Given the description of an element on the screen output the (x, y) to click on. 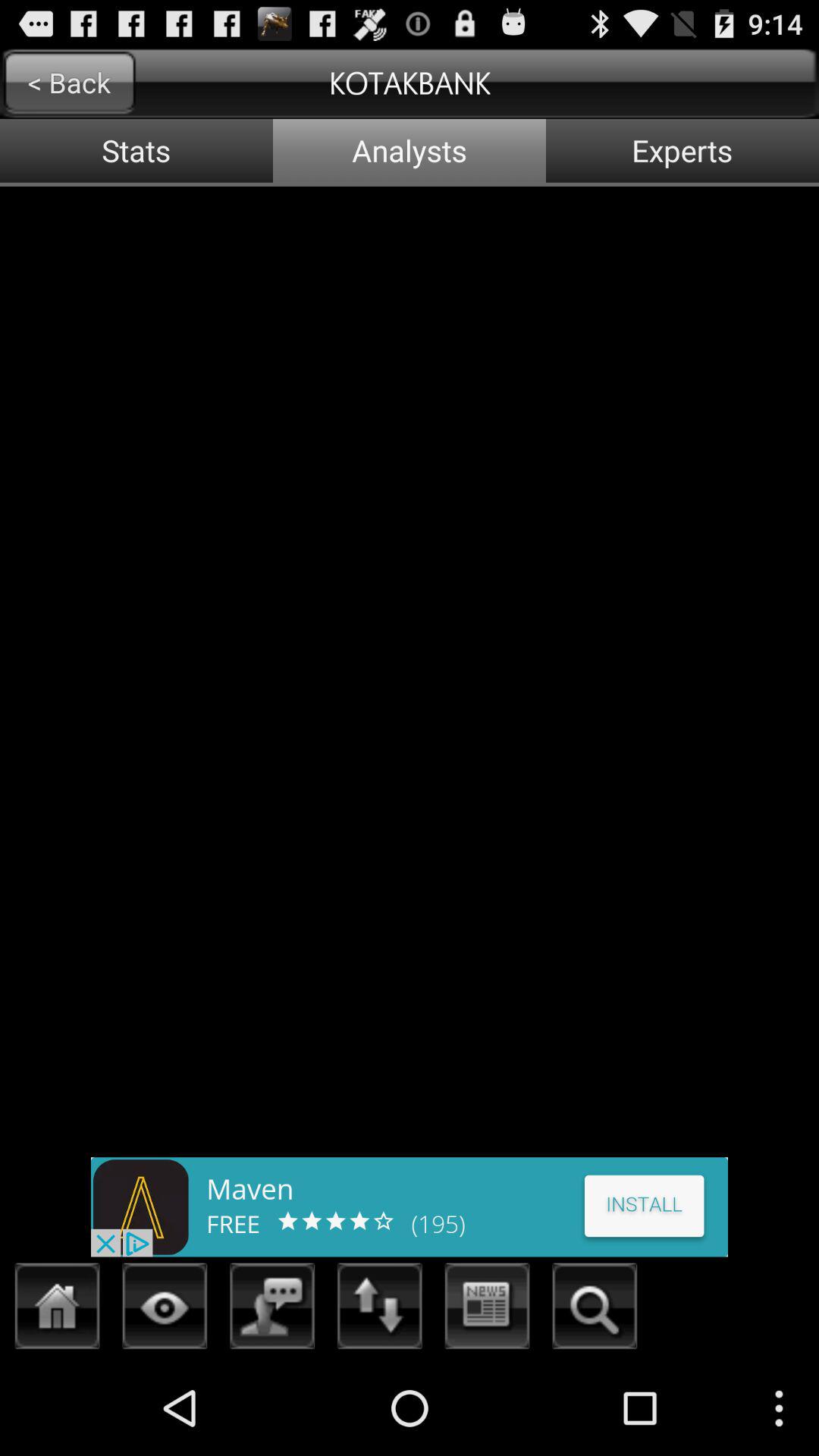
go to home (57, 1310)
